Given the description of an element on the screen output the (x, y) to click on. 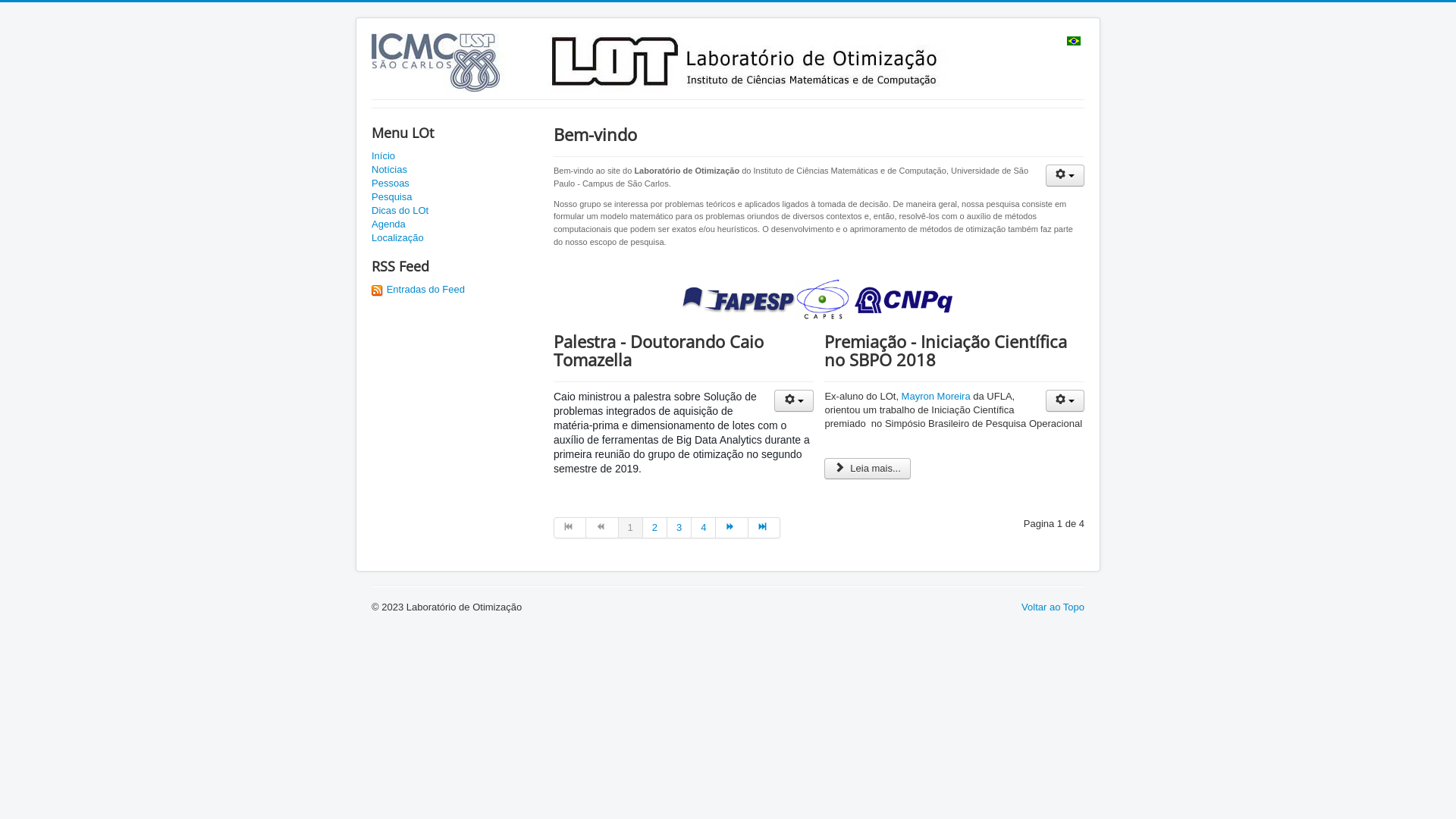
Entradas do Feed Element type: text (417, 288)
Fim Element type: hover (764, 527)
Leia mais... Element type: text (867, 468)
1 Element type: text (630, 527)
4 Element type: text (703, 527)
3 Element type: text (679, 527)
Voltar ao Topo Element type: text (1052, 606)
Pessoas Element type: text (454, 183)
2 Element type: text (655, 527)
Dicas do LOt Element type: text (454, 210)
Mayron Moreira Element type: text (937, 395)
Agenda Element type: text (454, 224)
Pesquisa Element type: text (454, 196)
